Given the description of an element on the screen output the (x, y) to click on. 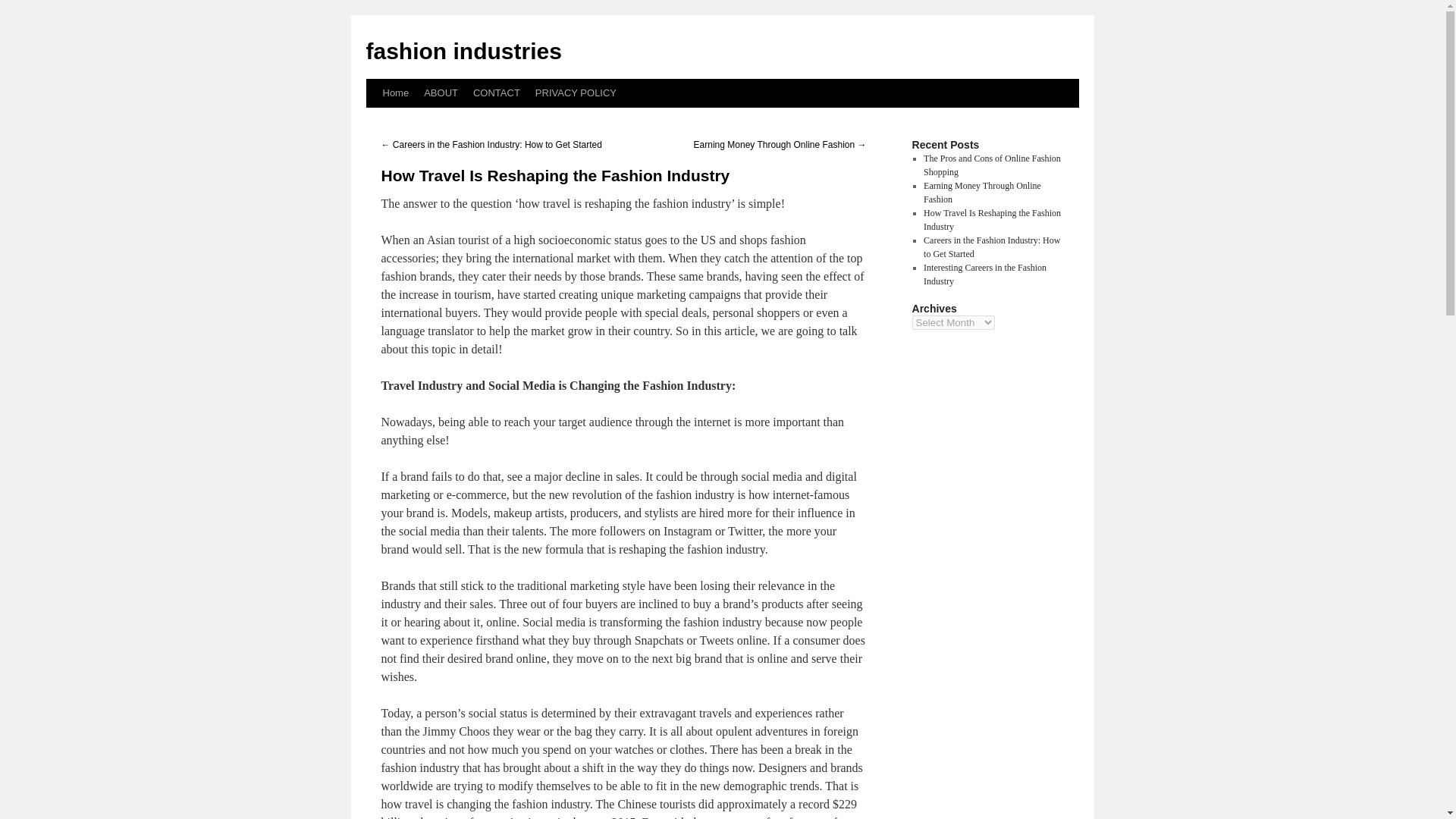
How Travel Is Reshaping the Fashion Industry (992, 219)
CONTACT (496, 92)
Careers in the Fashion Industry: How to Get Started (991, 247)
The Pros and Cons of Online Fashion Shopping (992, 165)
fashion industries (462, 50)
Careers in the Fashion Industry: How to Get Started (991, 247)
Interesting Careers in the Fashion Industry (984, 274)
PRIVACY POLICY (575, 92)
Home (395, 92)
The Pros and Cons of Online Fashion Shopping (992, 165)
Earning Money Through Online Fashion (982, 192)
ABOUT (440, 92)
Earning Money Through Online Fashion (982, 192)
Home (395, 92)
CONTACT (496, 92)
